Given the description of an element on the screen output the (x, y) to click on. 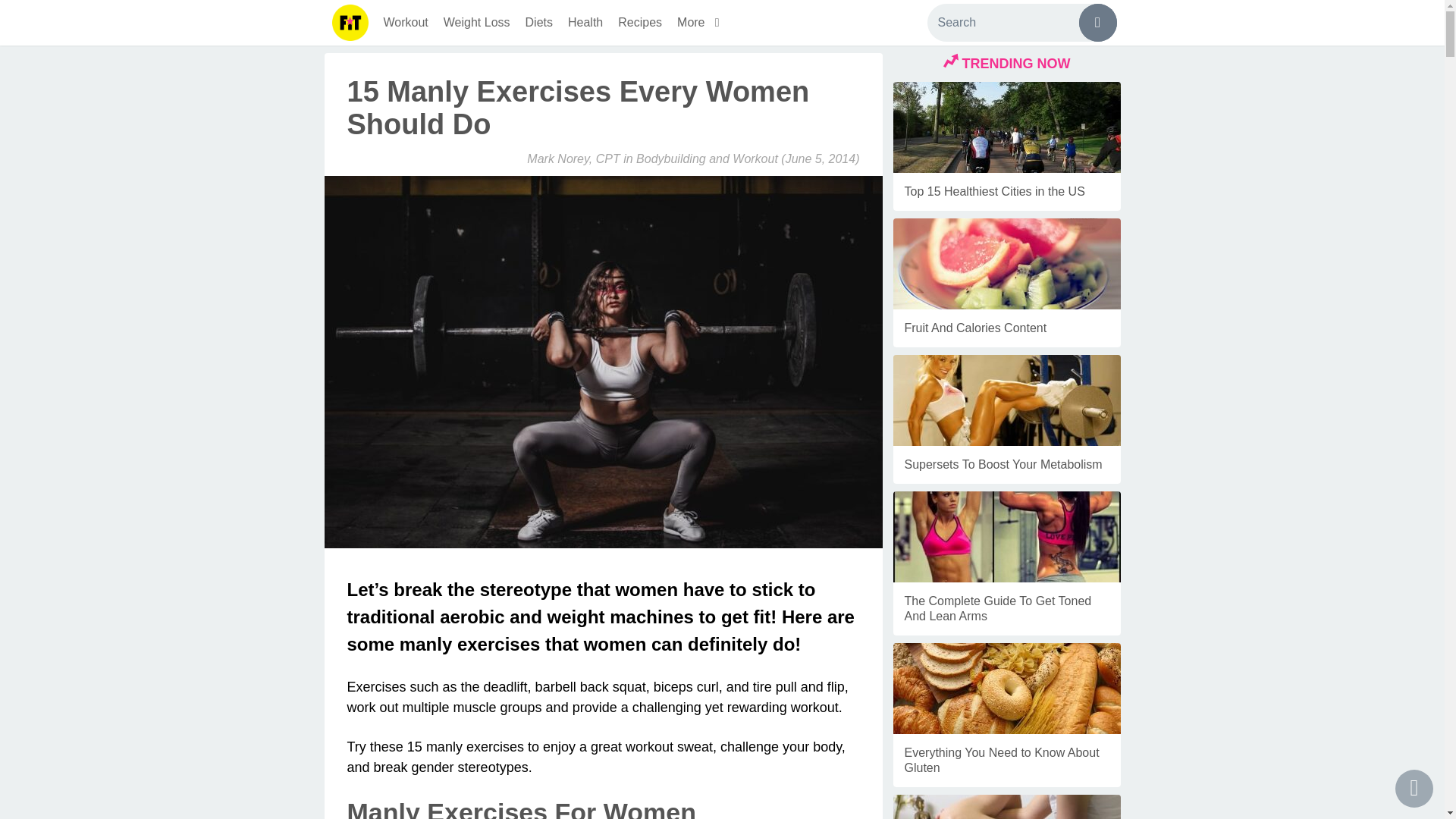
Workout (405, 22)
Recipes (639, 22)
Health (585, 22)
Bodybuilding (671, 158)
Workout (754, 158)
Posts by Mark Norey, CPT (573, 158)
More (701, 22)
Search (1021, 22)
Weight Loss (476, 22)
Mark Norey, CPT (573, 158)
Diets (539, 22)
